Given the description of an element on the screen output the (x, y) to click on. 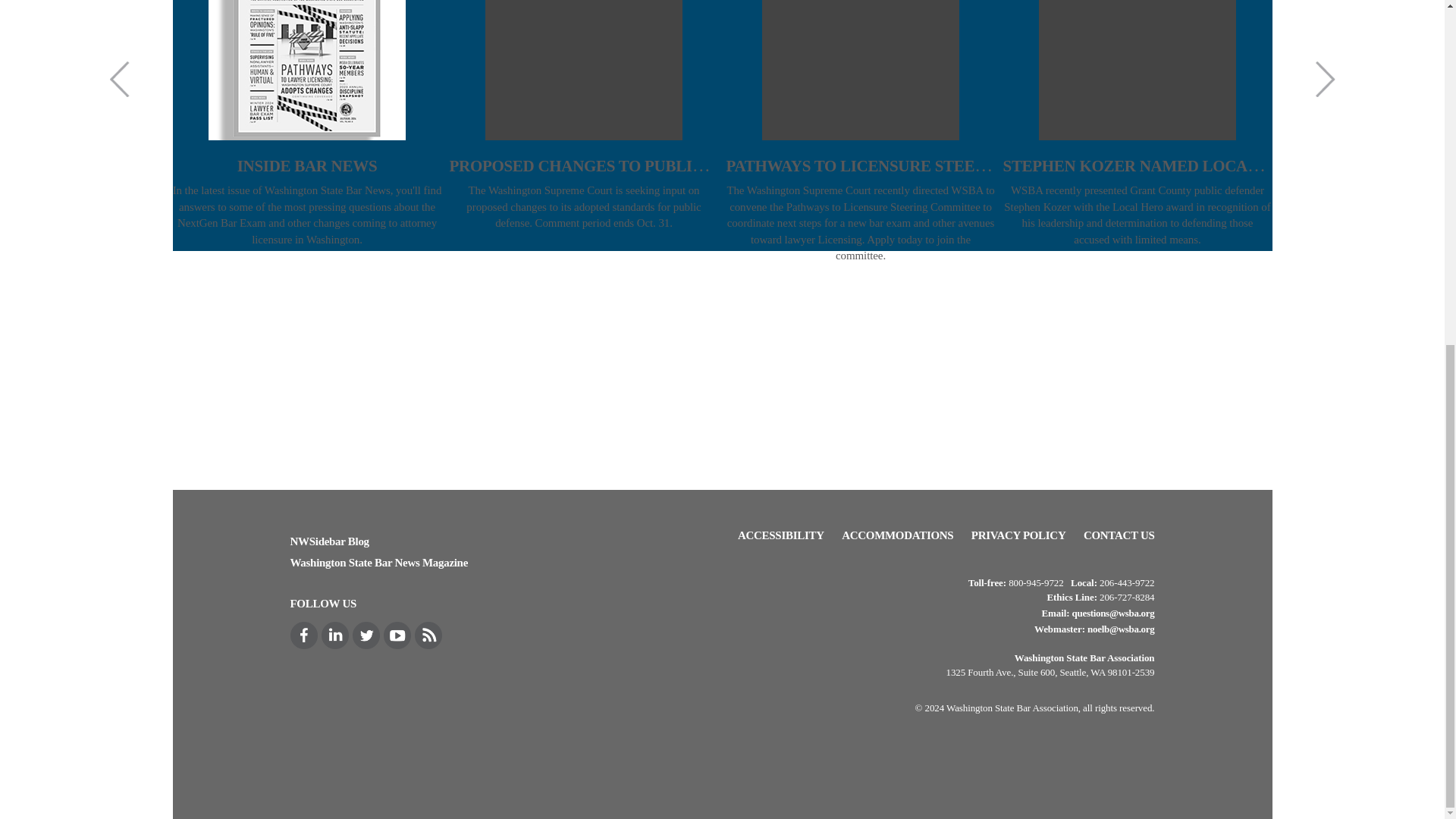
Stephen Kozer Named Local Hero (1154, 165)
Inside Bar News (307, 166)
Pathways to Licensure Steering Committee (922, 165)
